Given the description of an element on the screen output the (x, y) to click on. 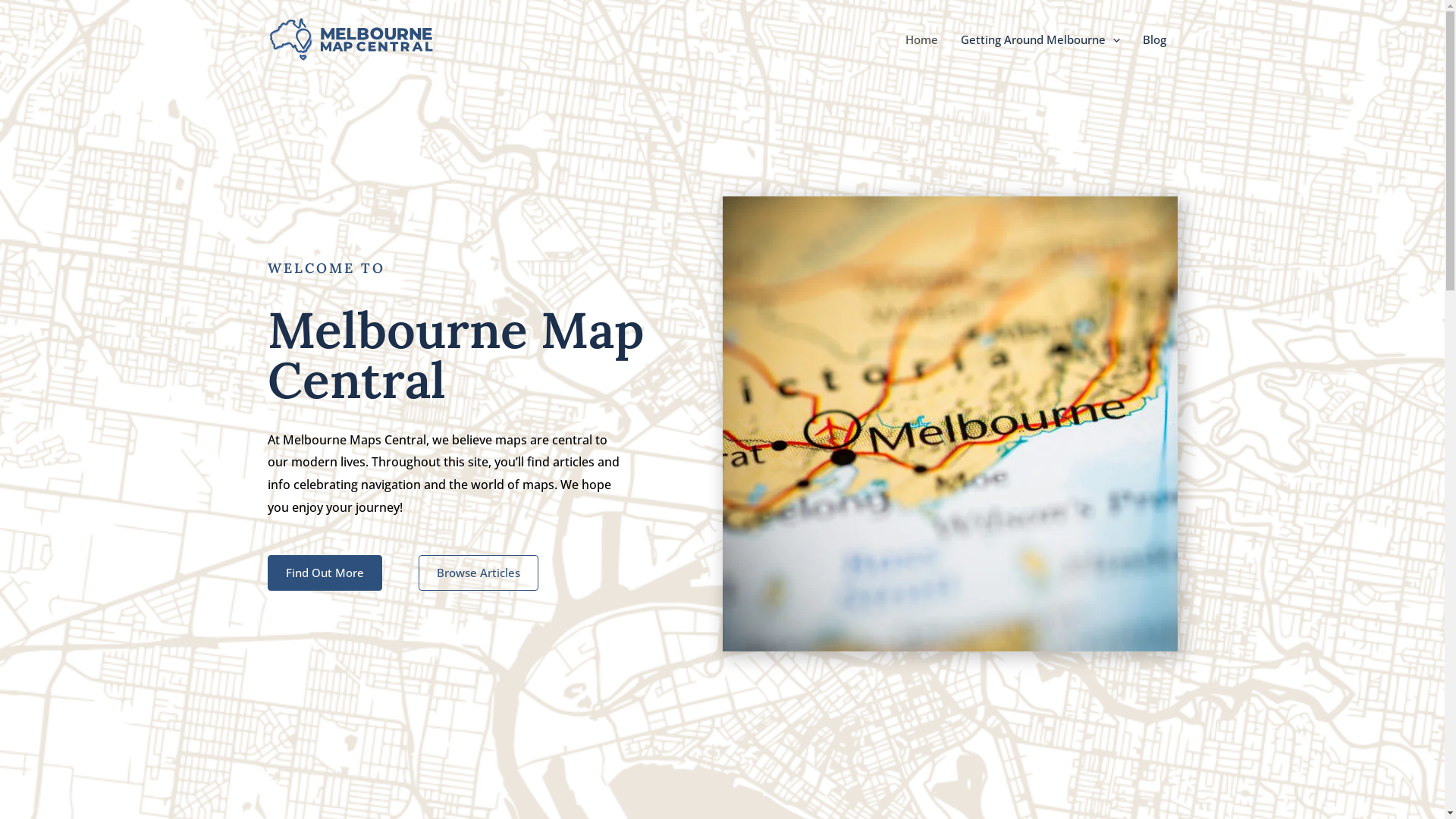
Getting Around Melbourne Element type: text (1040, 39)
Home Element type: text (920, 39)
Blog Element type: text (1154, 39)
Browse Articles Element type: text (478, 572)
Find Out More Element type: text (323, 572)
